Given the description of an element on the screen output the (x, y) to click on. 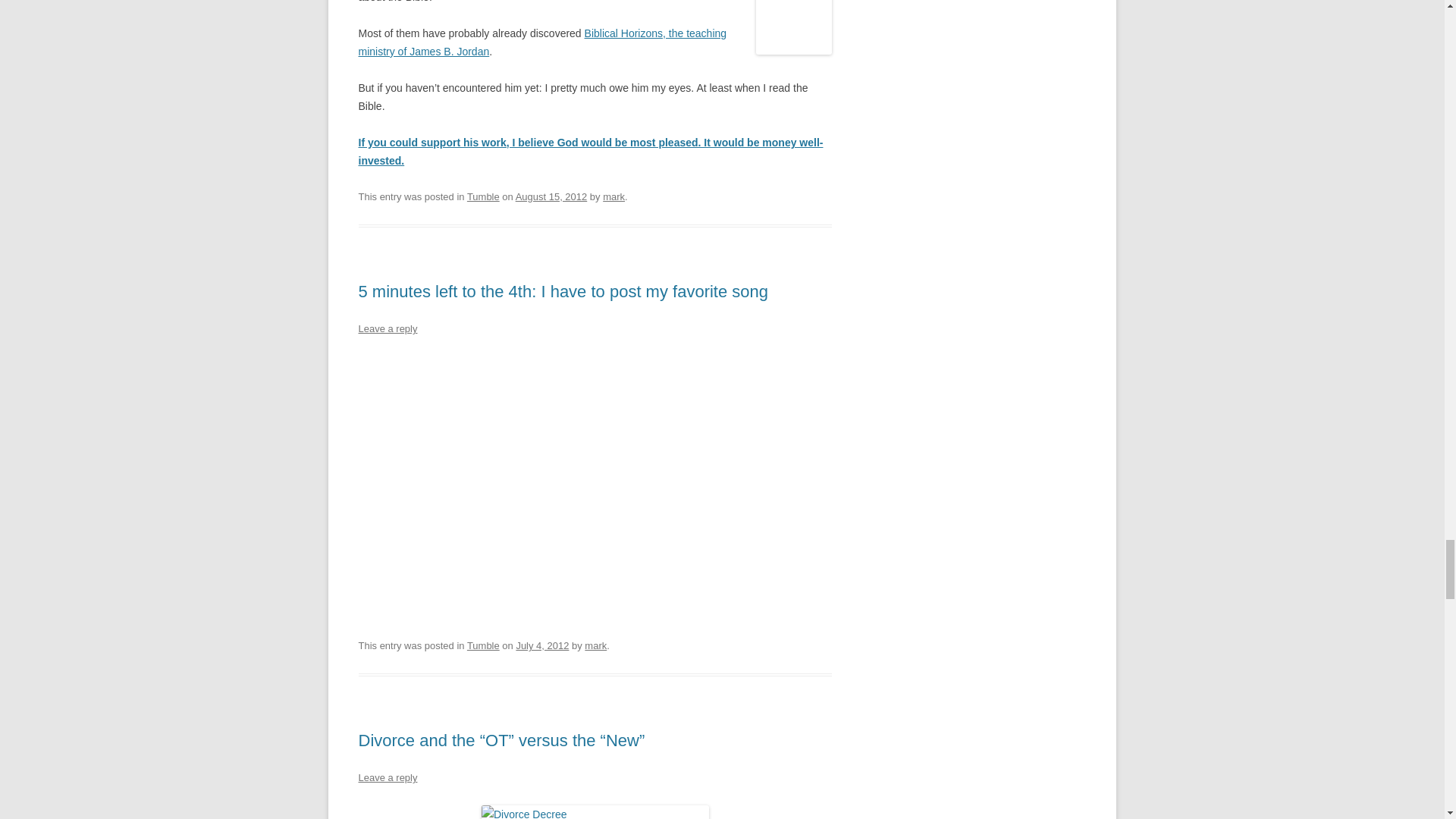
View all posts by mark (613, 196)
Jamesbjordan (793, 27)
3:58 pm (551, 196)
